Given the description of an element on the screen output the (x, y) to click on. 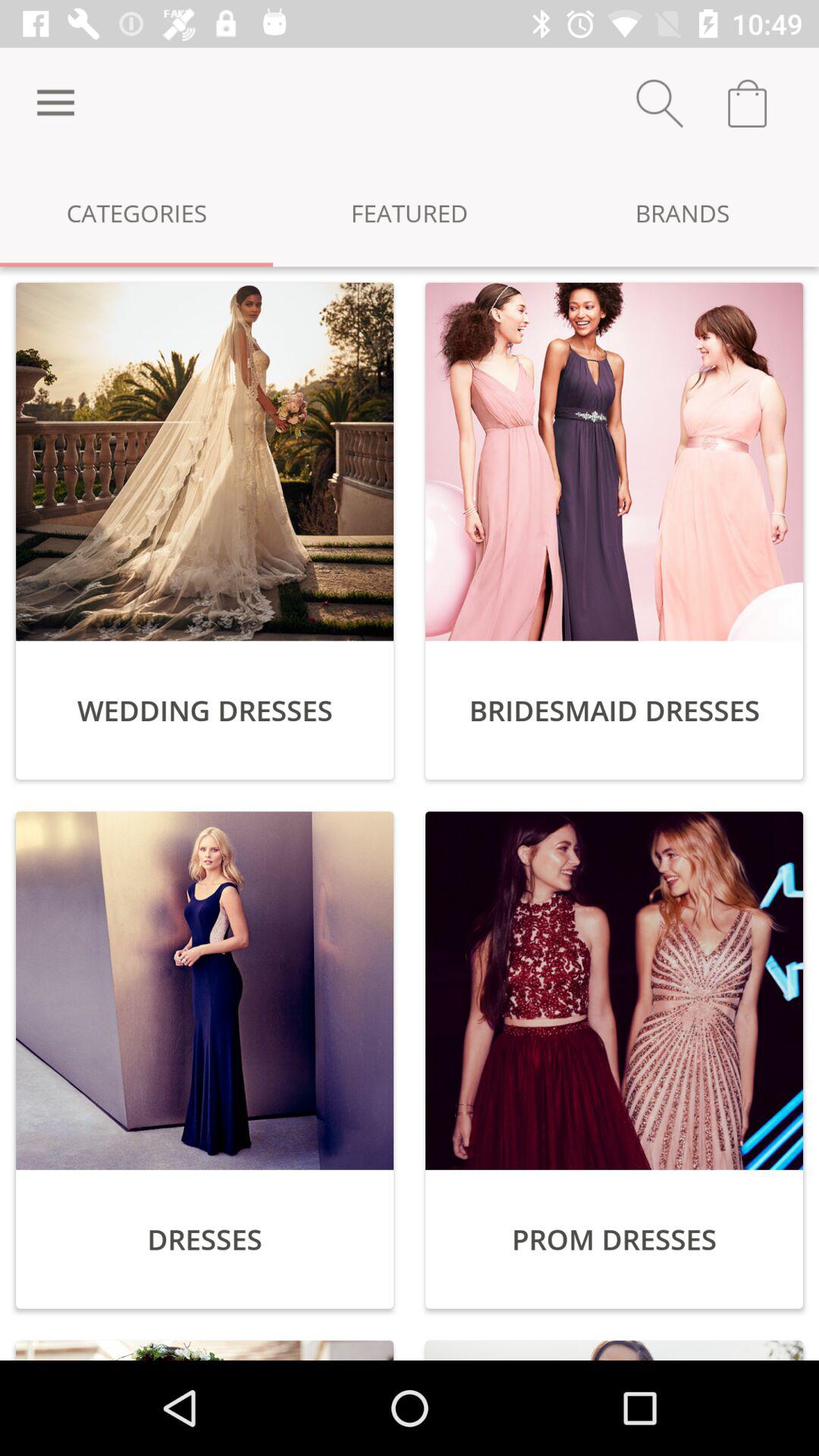
click item above the categories (55, 103)
